Given the description of an element on the screen output the (x, y) to click on. 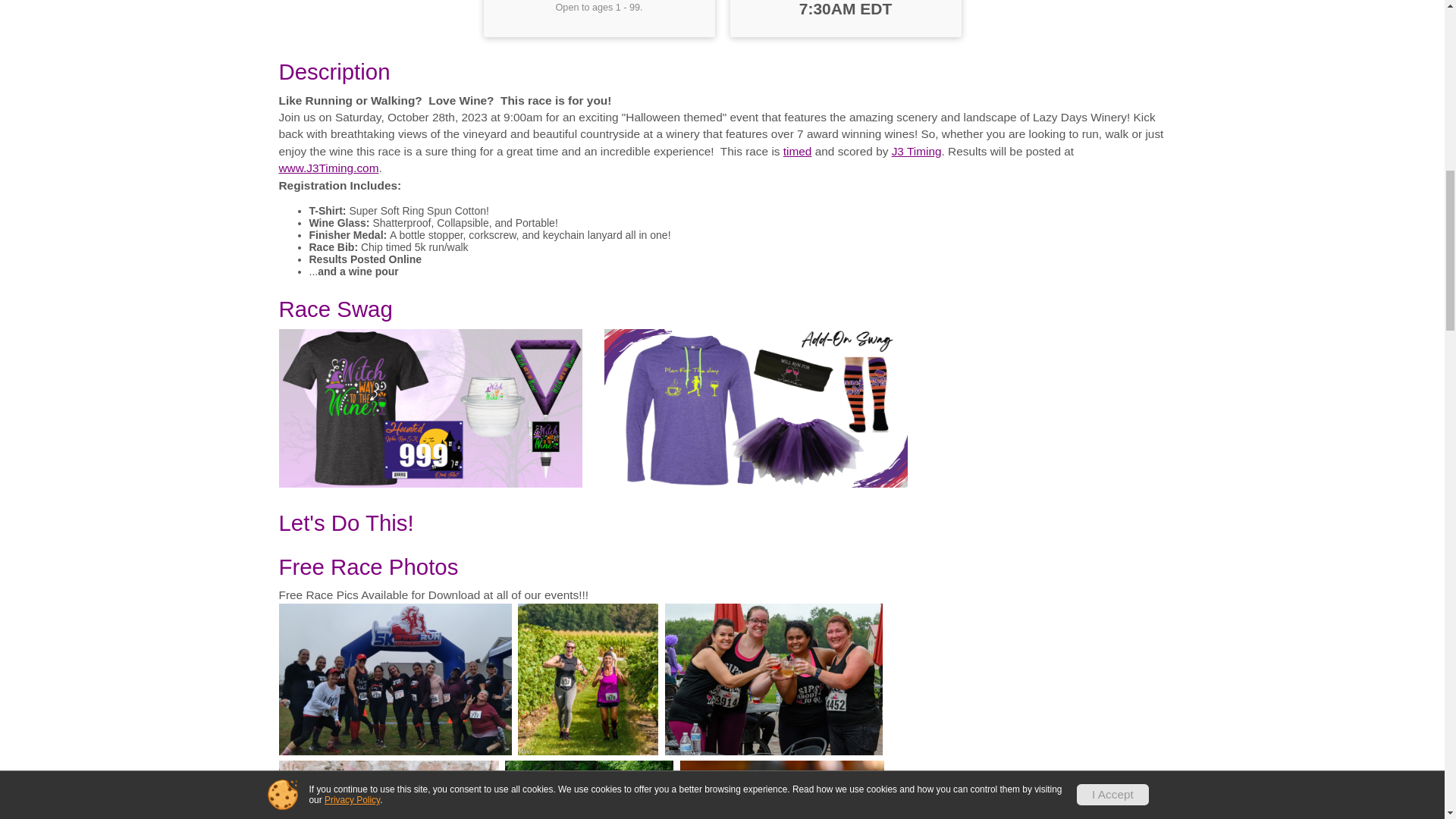
J3 Timing (916, 151)
timed (797, 151)
www.J3Timing.com (328, 167)
